Given the description of an element on the screen output the (x, y) to click on. 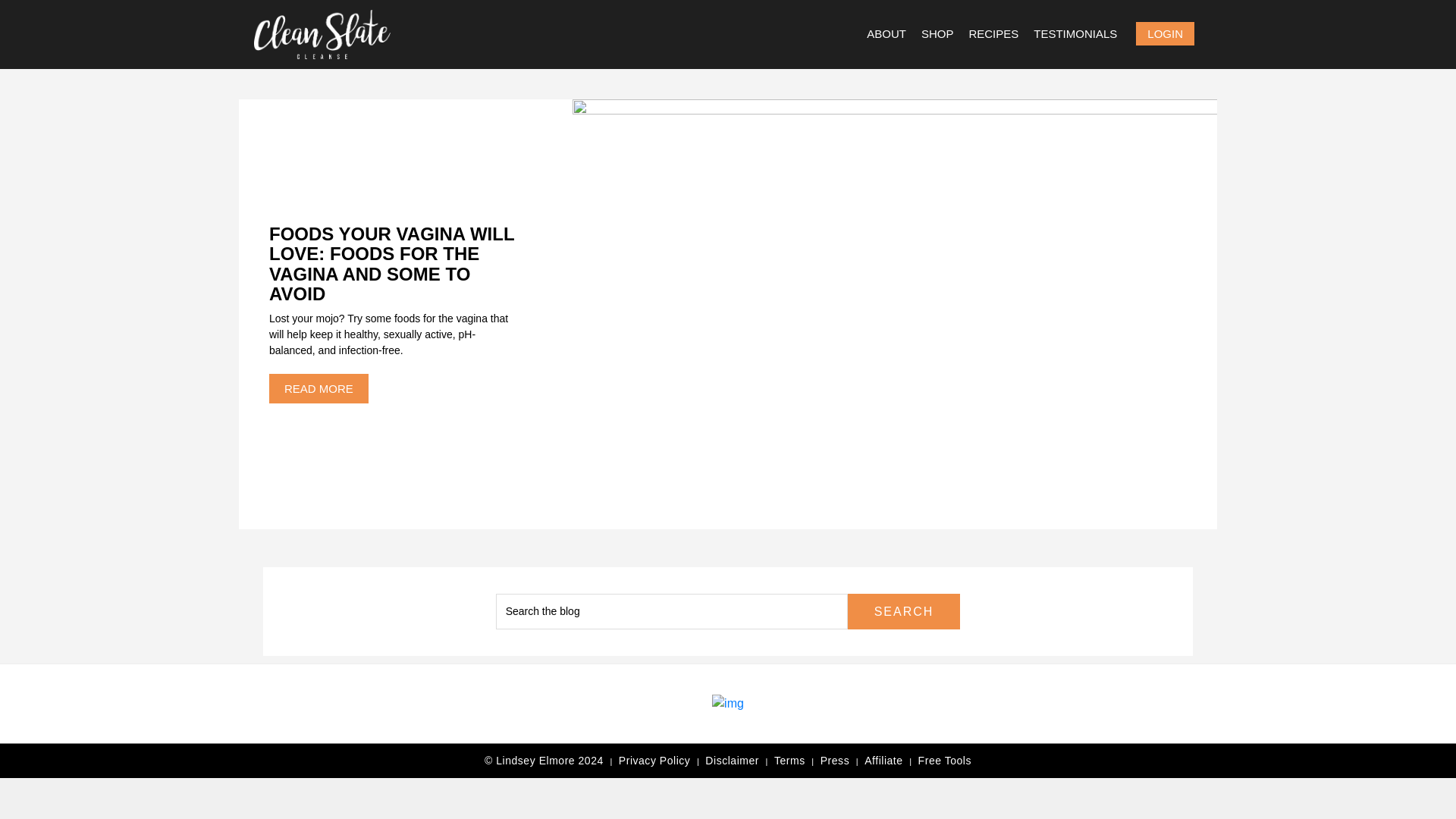
RECIPES (992, 33)
ABOUT (885, 33)
LOGIN (1164, 33)
TESTIMONIALS (1074, 33)
SHOP (937, 33)
